Given the description of an element on the screen output the (x, y) to click on. 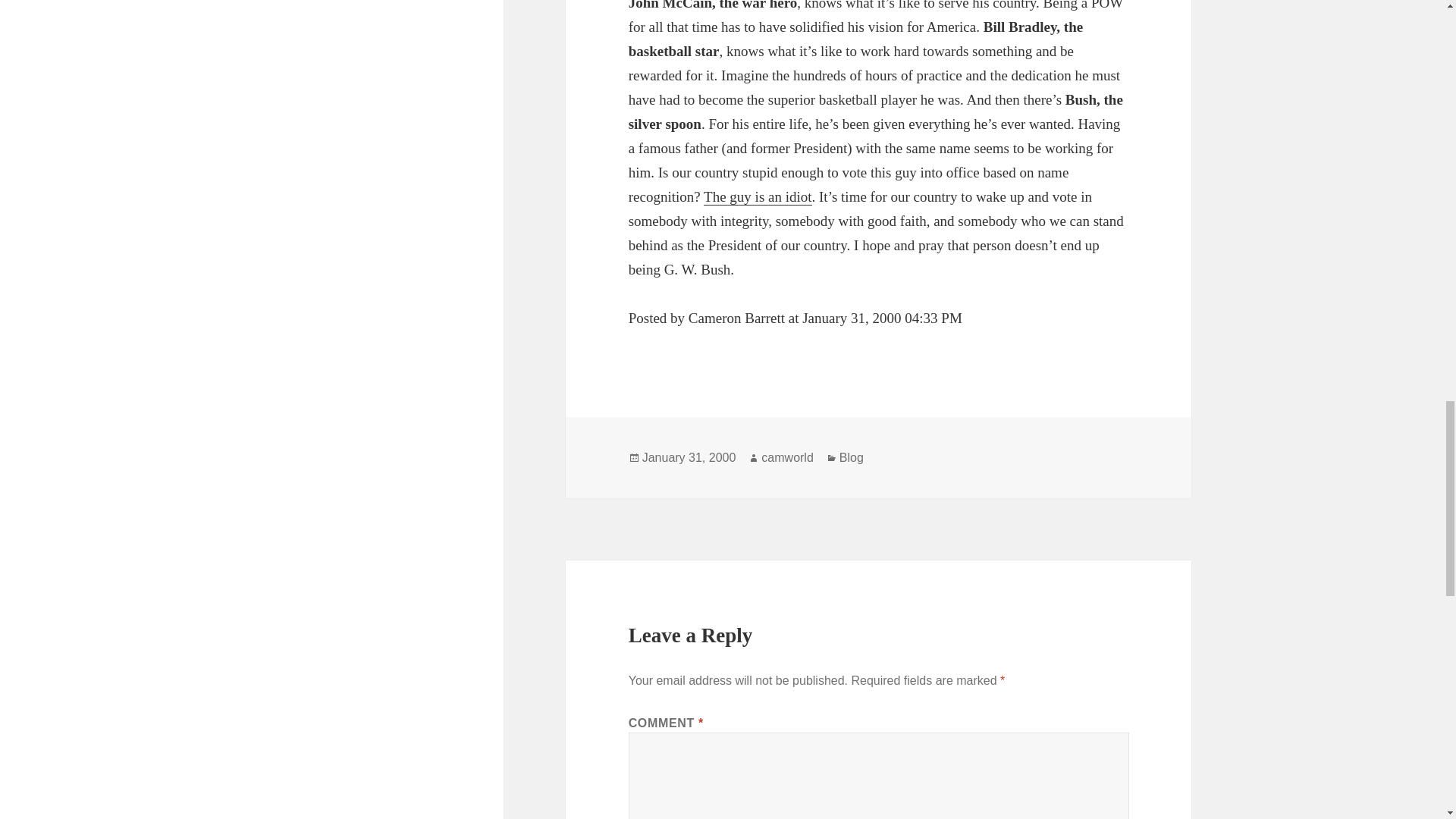
camworld (786, 458)
Blog (851, 458)
January 31, 2000 (689, 458)
The guy is an idiot (756, 197)
